Given the description of an element on the screen output the (x, y) to click on. 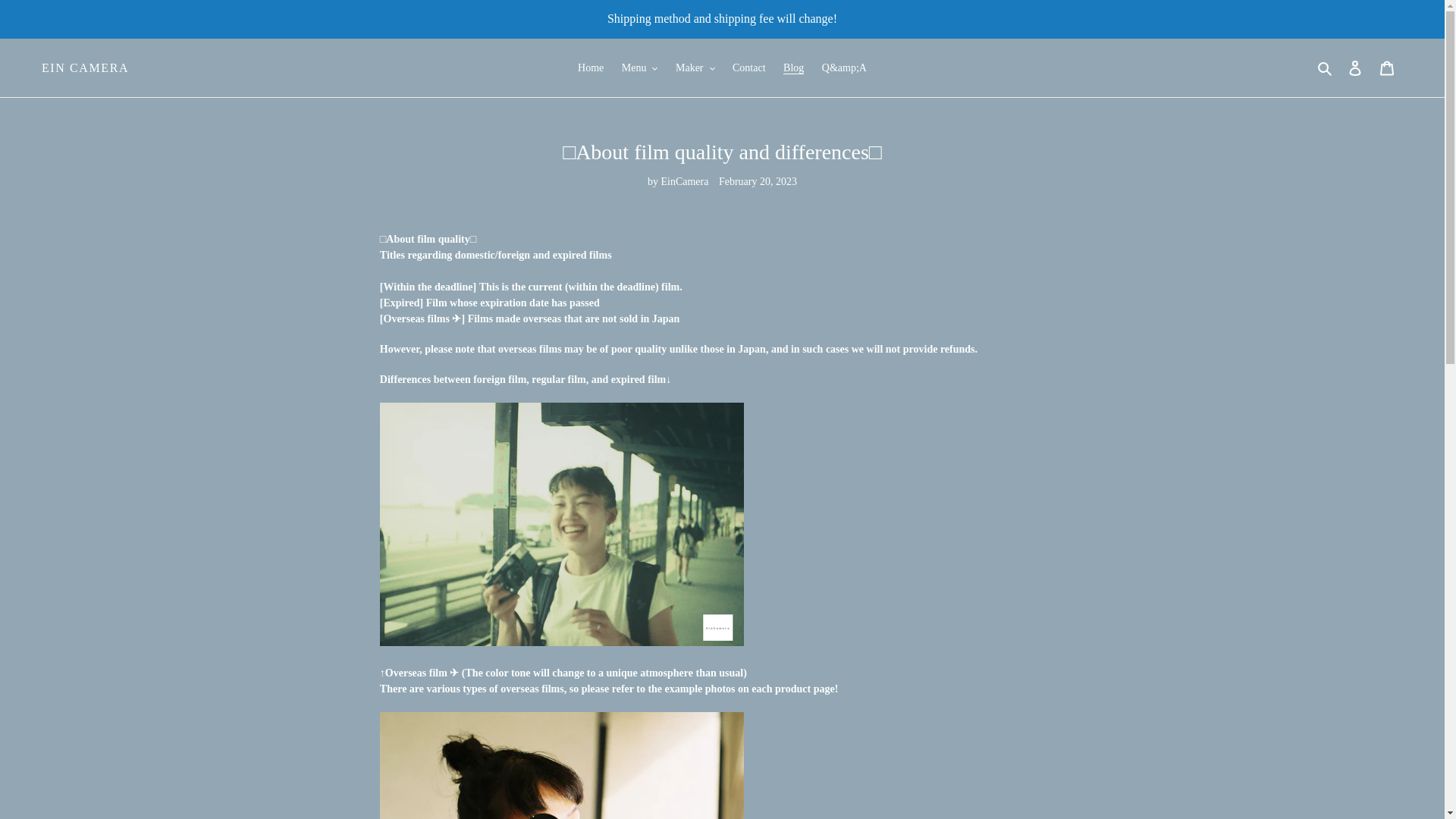
Home (590, 67)
Maker (695, 67)
EIN CAMERA (85, 67)
Shipping method and shipping fee will change! (721, 18)
Menu (639, 67)
